Given the description of an element on the screen output the (x, y) to click on. 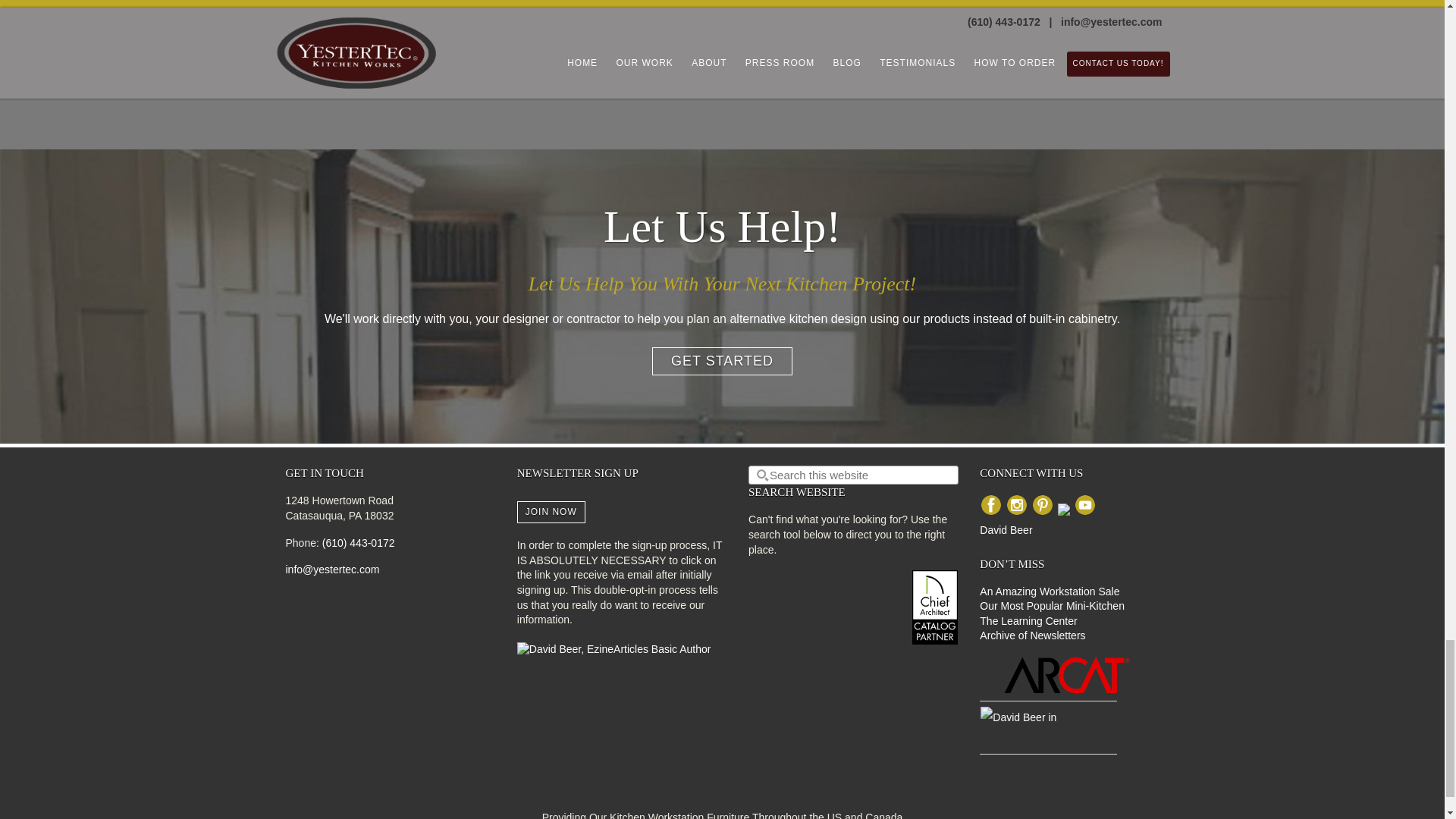
GET STARTED (722, 360)
JOIN NOW (550, 510)
David Beer, EzineArticles Expert Author (614, 648)
